Given the description of an element on the screen output the (x, y) to click on. 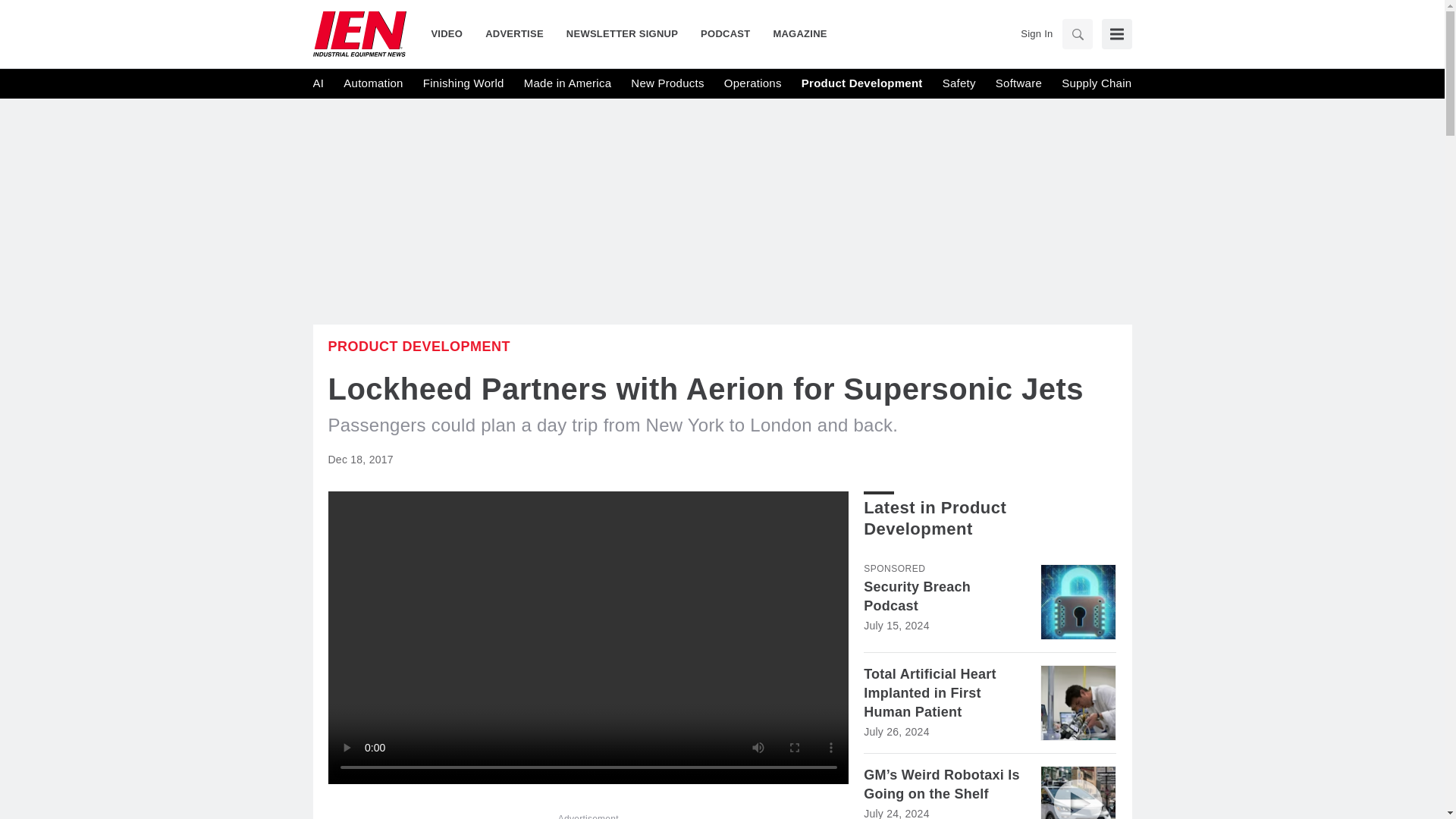
Sponsored (893, 568)
Product Development (419, 346)
Safety (958, 83)
Sign In (1036, 33)
AI (318, 83)
Supply Chain (1096, 83)
Software (1018, 83)
NEWSLETTER SIGNUP (621, 33)
Automation (373, 83)
ADVERTISE (514, 33)
New Products (666, 83)
PODCAST (724, 33)
Made in America (567, 83)
Operations (752, 83)
Finishing World (463, 83)
